Given the description of an element on the screen output the (x, y) to click on. 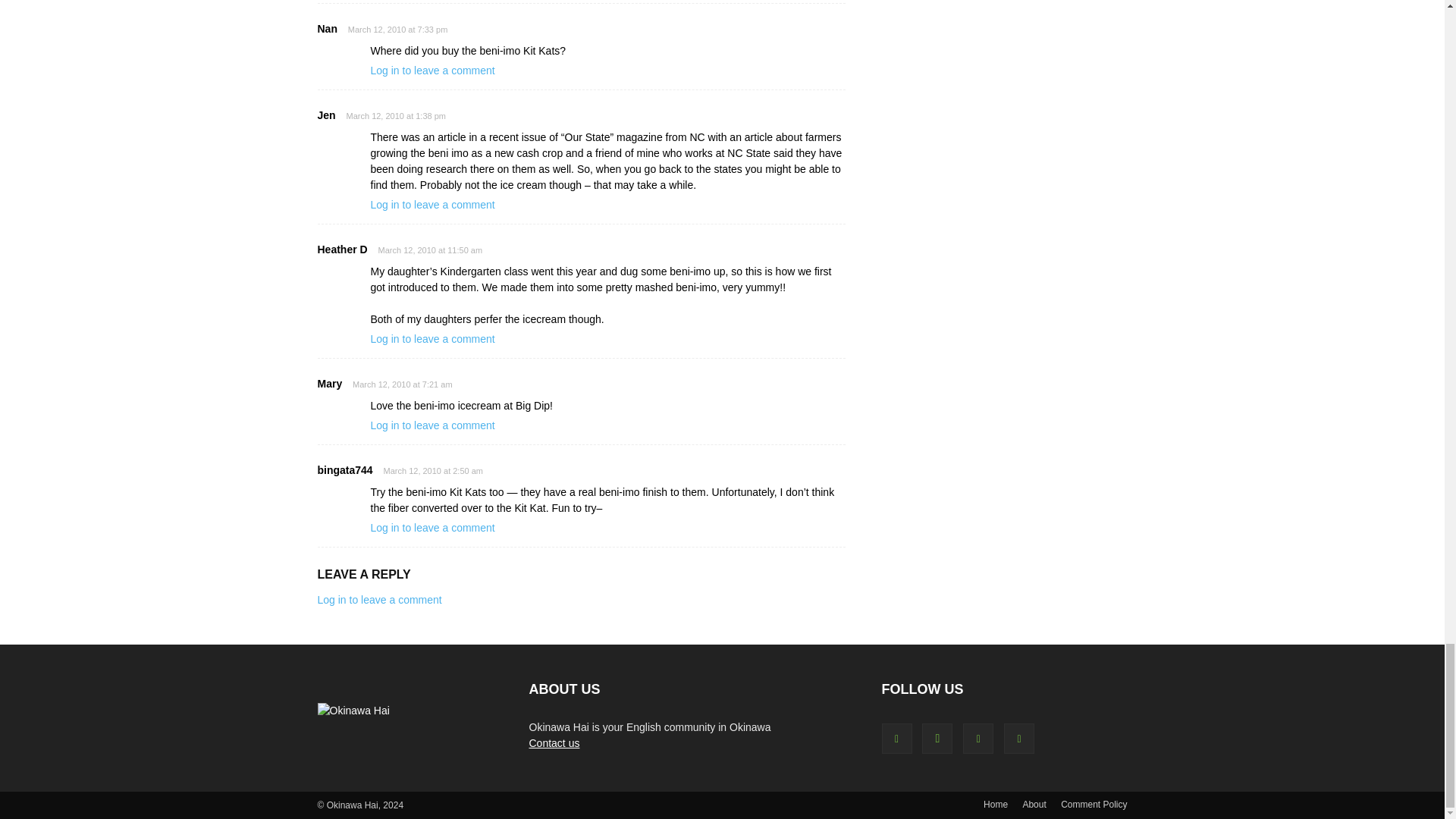
Instagram (936, 738)
Twitter (977, 738)
Facebook (895, 738)
